Given the description of an element on the screen output the (x, y) to click on. 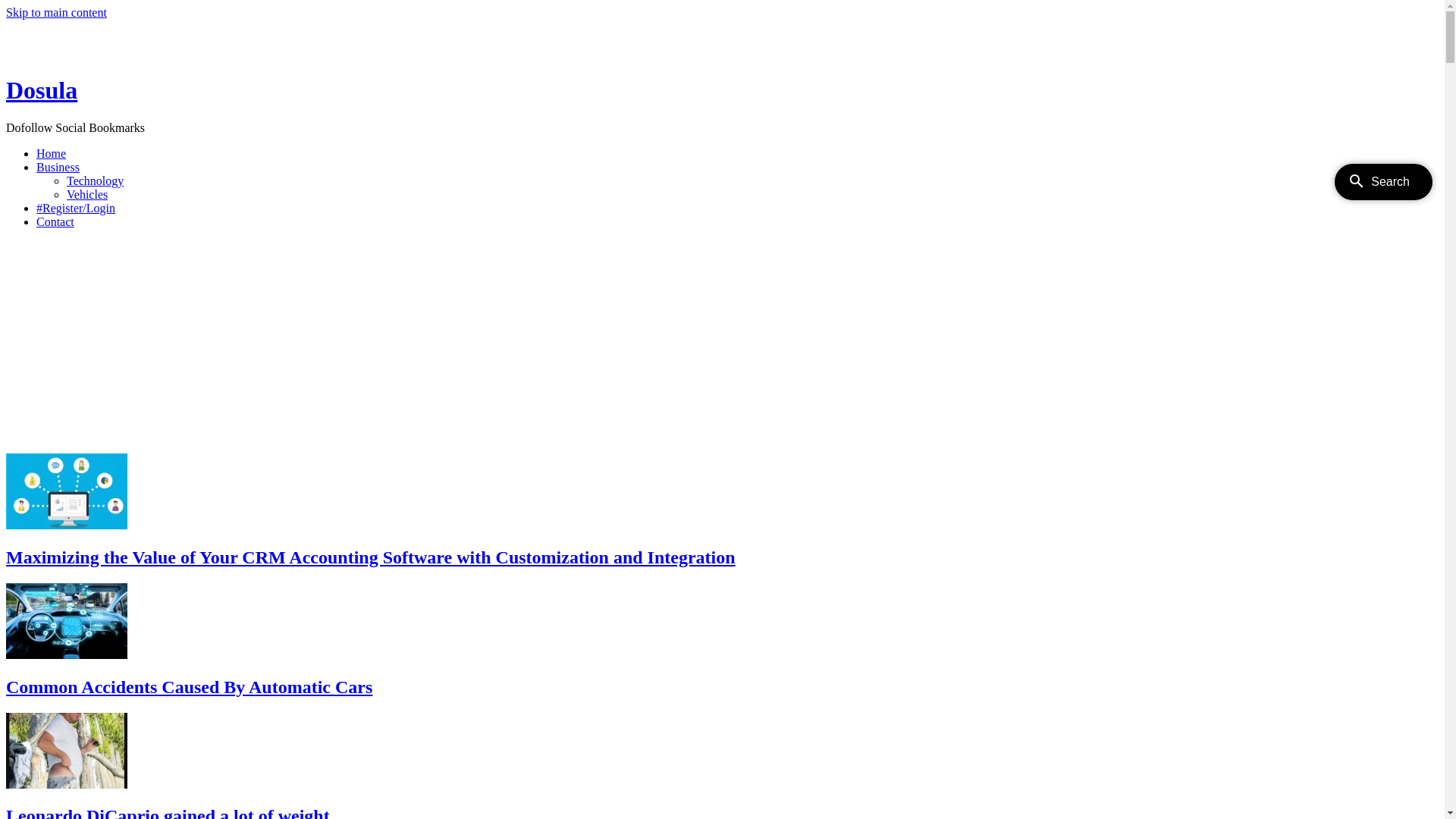
Advertisement Element type: hover (461, 347)
Vehicles Element type: text (86, 194)
Home Element type: hover (24, 53)
#Register/Login Element type: text (75, 207)
Technology Element type: text (94, 180)
Skip to main content Element type: text (56, 12)
Business Element type: text (57, 166)
Home Element type: text (50, 153)
Dosula Element type: text (41, 89)
Common Accidents Caused By Automatic Cars Element type: text (189, 686)
Leonardo DiCaprio Element type: hover (66, 750)
Common Accidents Caused By Automatic Cars Element type: hover (66, 620)
Contact Element type: text (55, 221)
